Given the description of an element on the screen output the (x, y) to click on. 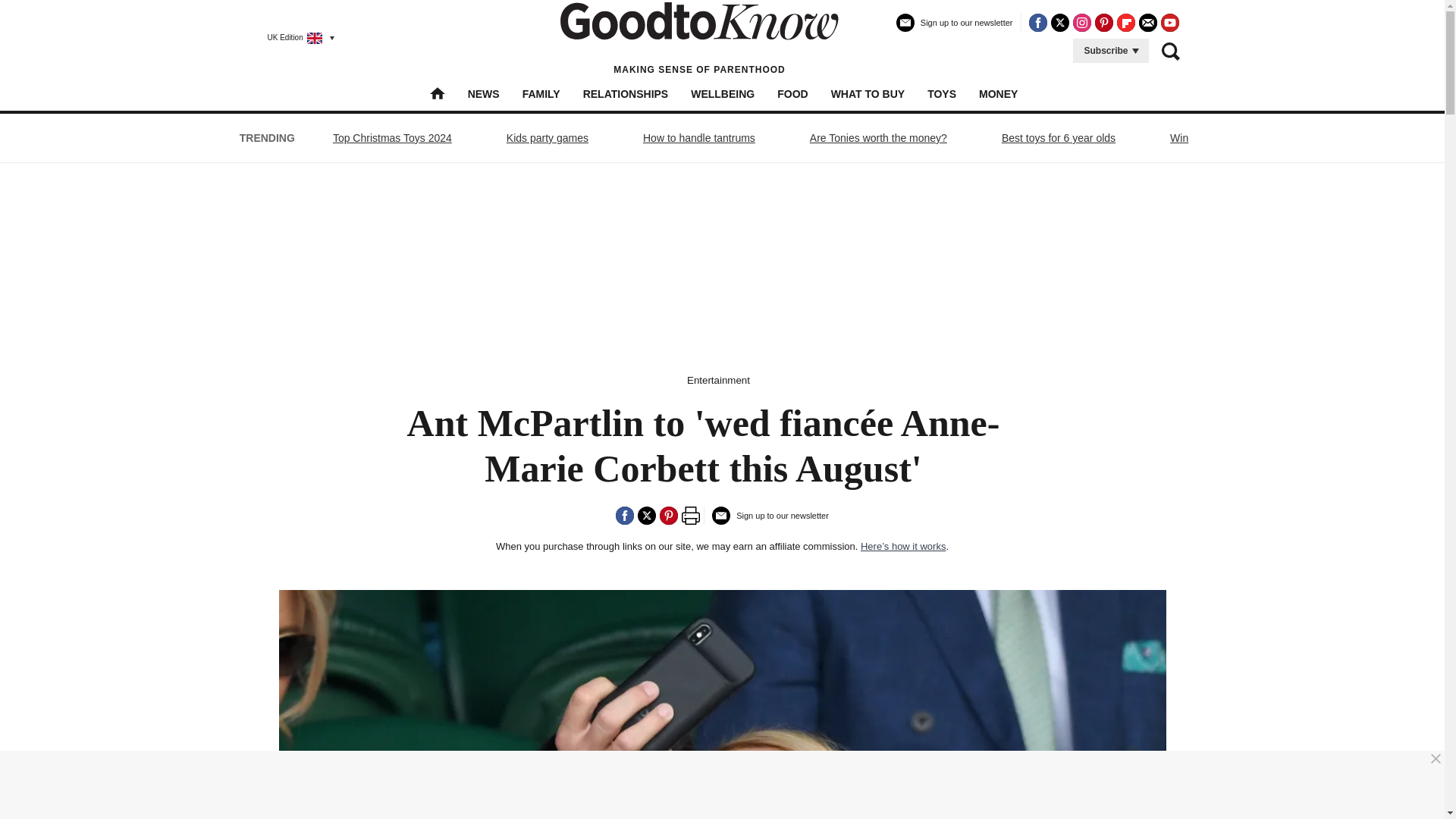
MONEY (997, 93)
Are Tonies worth the money? (878, 137)
RELATIONSHIPS (625, 93)
UK Edition (294, 37)
NEWS (483, 93)
MAKING SENSE OF PARENTHOOD (699, 38)
Kids party games (547, 137)
How to handle tantrums (698, 137)
Sign up to our newsletter (954, 28)
Win (1178, 137)
Entertainment (718, 379)
WHAT TO BUY (867, 93)
WELLBEING (722, 93)
TOYS (941, 93)
